Given the description of an element on the screen output the (x, y) to click on. 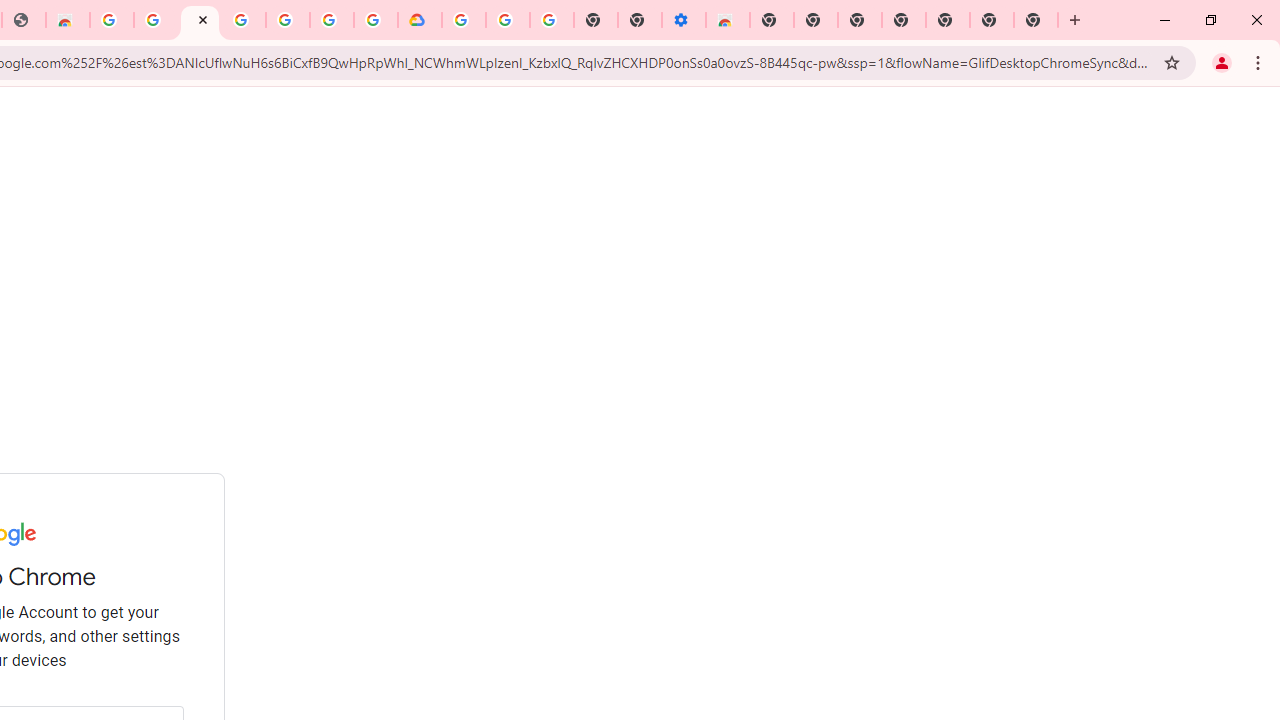
New Tab (771, 20)
Turn cookies on or off - Computer - Google Account Help (551, 20)
Ad Settings (155, 20)
New Tab (1035, 20)
Sign in - Google Accounts (331, 20)
Sign in - Google Accounts (463, 20)
Chrome Web Store - Household (67, 20)
Google Account Help (507, 20)
